Given the description of an element on the screen output the (x, y) to click on. 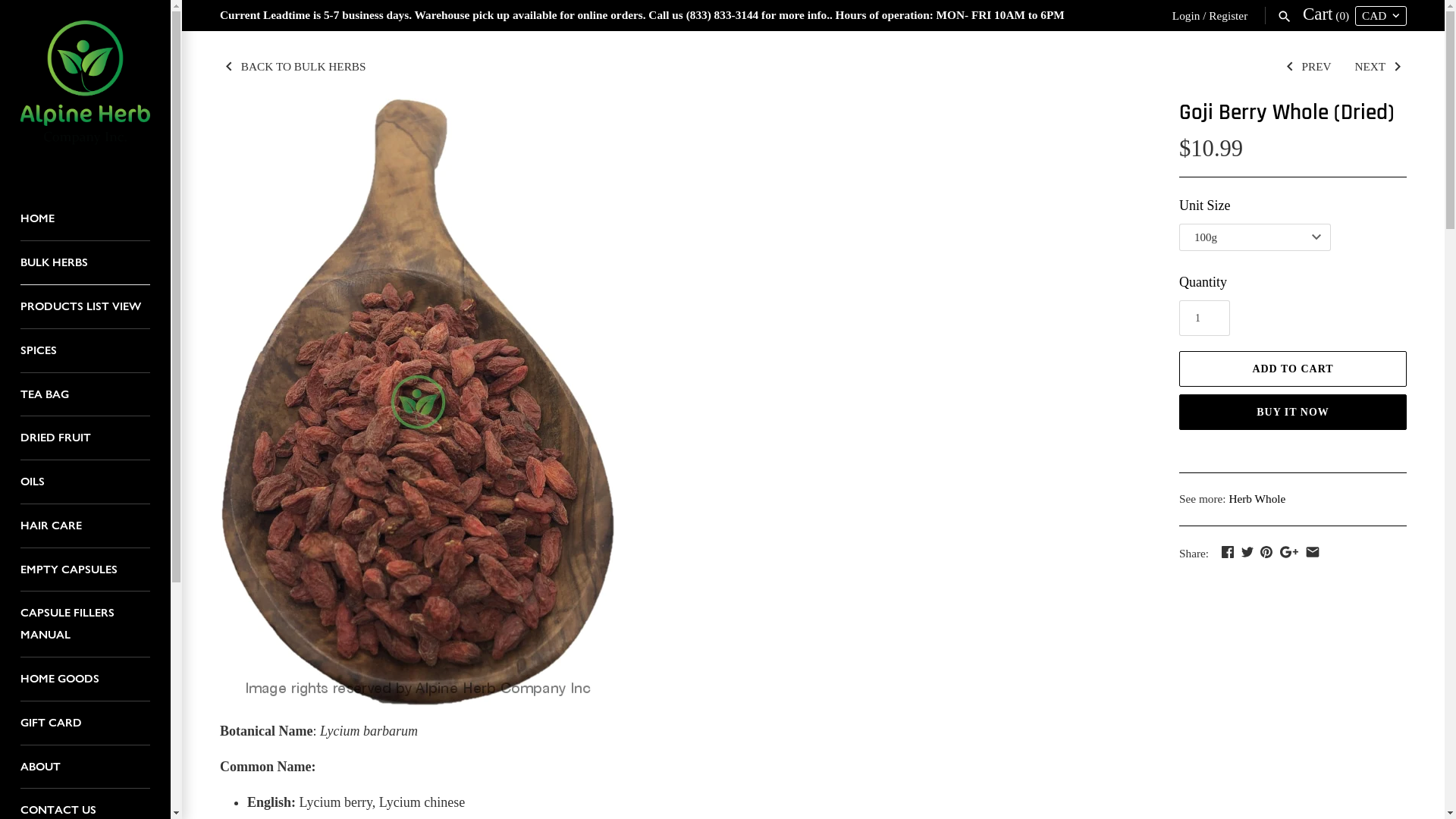
GIFT CARD Element type: text (85, 723)
Pinterest Element type: text (1266, 551)
CAPSULE FILLERS MANUAL Element type: text (85, 624)
LEFT BACK TO BULK HERBS Element type: text (292, 64)
DRIED FRUIT Element type: text (85, 438)
Register Element type: text (1227, 15)
BUY IT NOW Element type: text (1292, 411)
HOME GOODS Element type: text (85, 679)
Goji Berry Whole - Alpine Herb Company Inc. Element type: hover (417, 401)
Twitter Element type: text (1247, 551)
SPICES Element type: text (85, 351)
Email Element type: text (1312, 551)
EMPTY CAPSULES Element type: text (85, 570)
ABOUT Element type: text (85, 767)
HAIR CARE Element type: text (85, 526)
HOME Element type: text (85, 219)
BULK HERBS Element type: text (85, 263)
NEXT RIGHT Element type: text (1380, 64)
ADD TO CART Element type: text (1292, 367)
Cart (0) Element type: text (1327, 15)
Login Element type: text (1186, 15)
GooglePlus Element type: text (1289, 551)
Facebook Element type: text (1227, 551)
Herb Whole Element type: text (1256, 498)
PRODUCTS LIST VIEW Element type: text (85, 307)
Search Element type: text (1284, 15)
OILS Element type: text (85, 482)
LEFT PREV Element type: text (1307, 64)
Alpine Herb Company Inc. Element type: hover (85, 90)
TEA BAG Element type: text (85, 395)
